Given the description of an element on the screen output the (x, y) to click on. 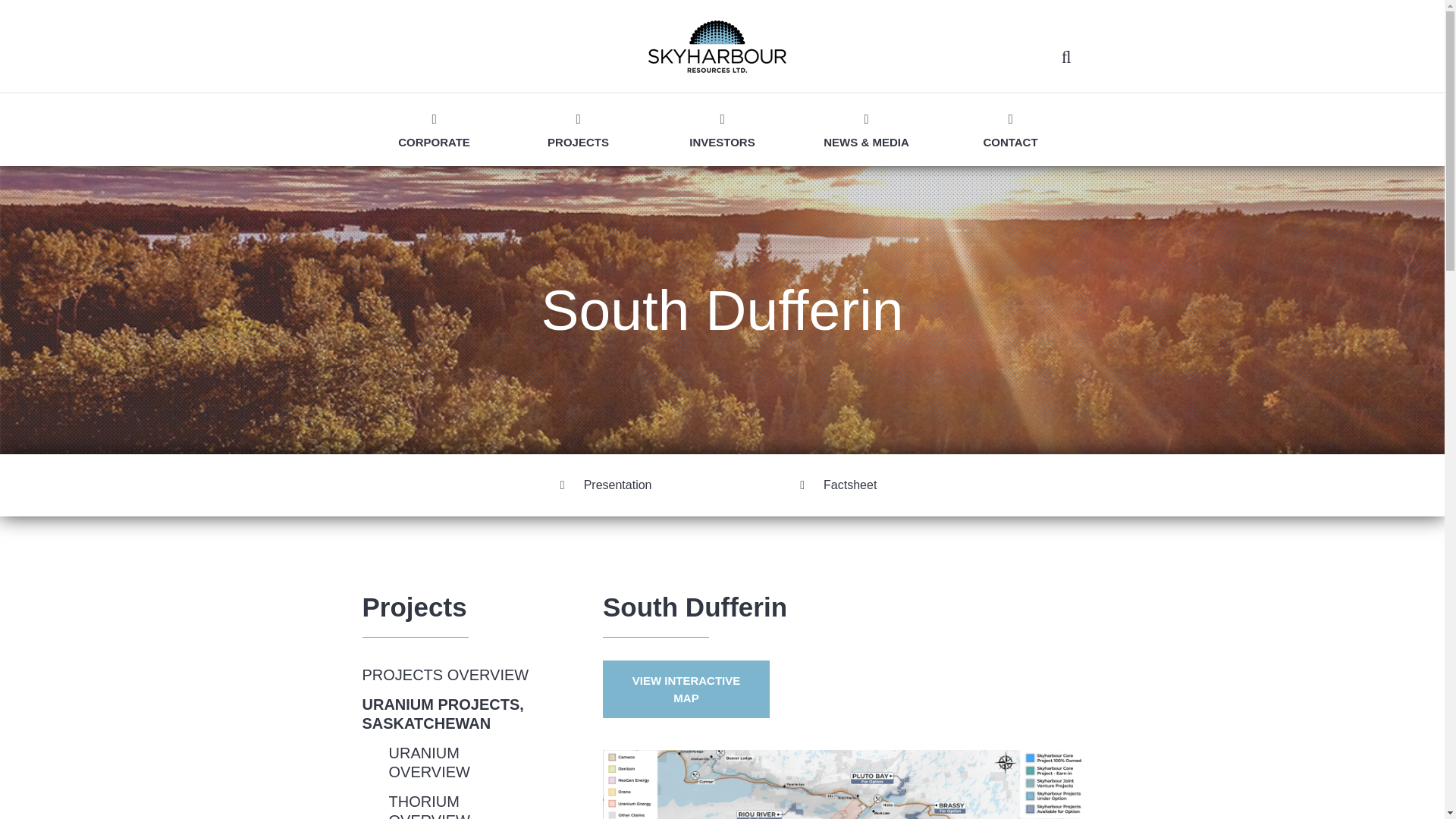
CORPORATE (433, 130)
CONTACT (1009, 130)
INVESTORS (721, 130)
skyharbourltd.com (716, 68)
PROJECTS (577, 130)
